Given the description of an element on the screen output the (x, y) to click on. 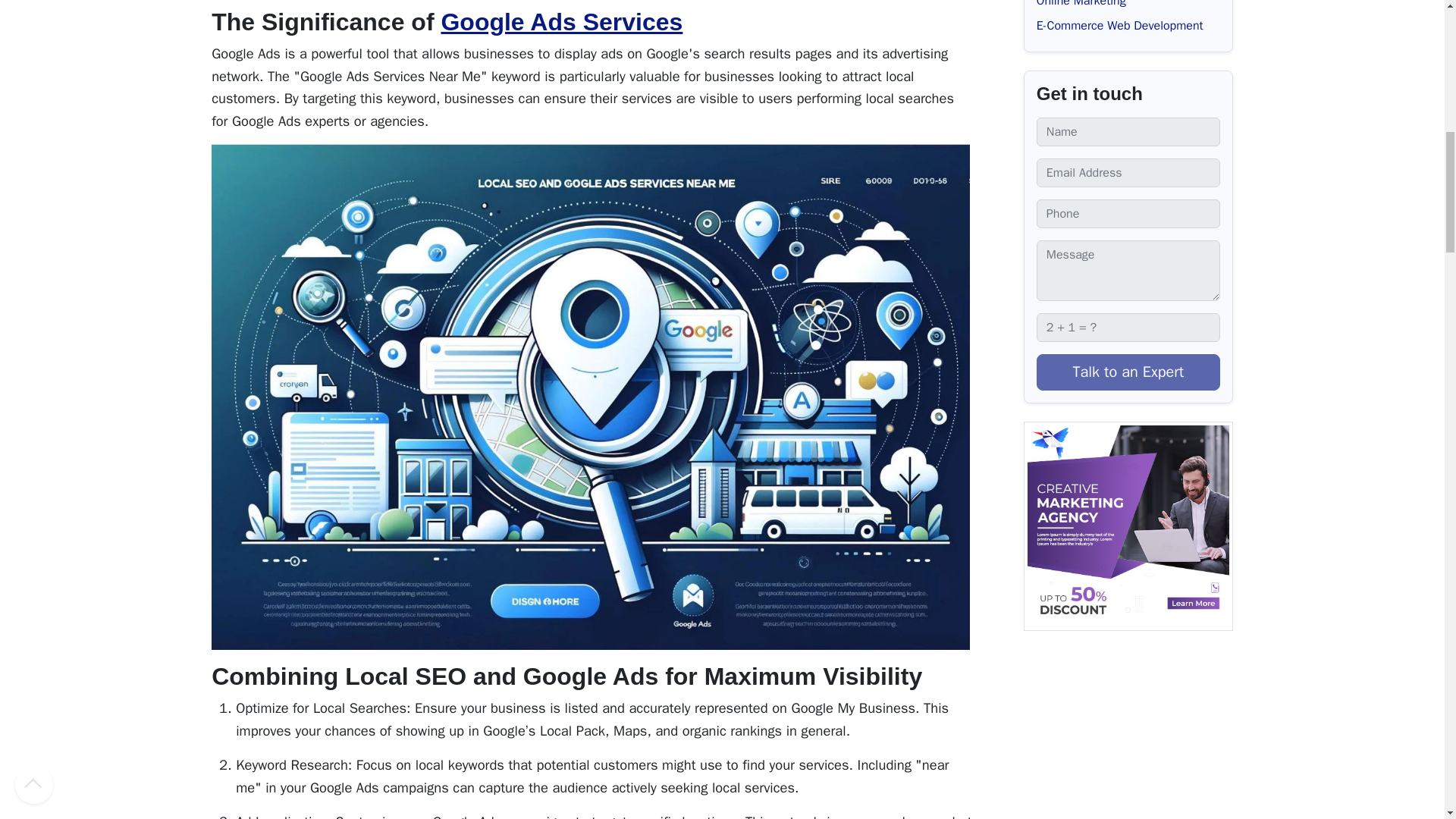
Google Ads Services (561, 22)
